Given the description of an element on the screen output the (x, y) to click on. 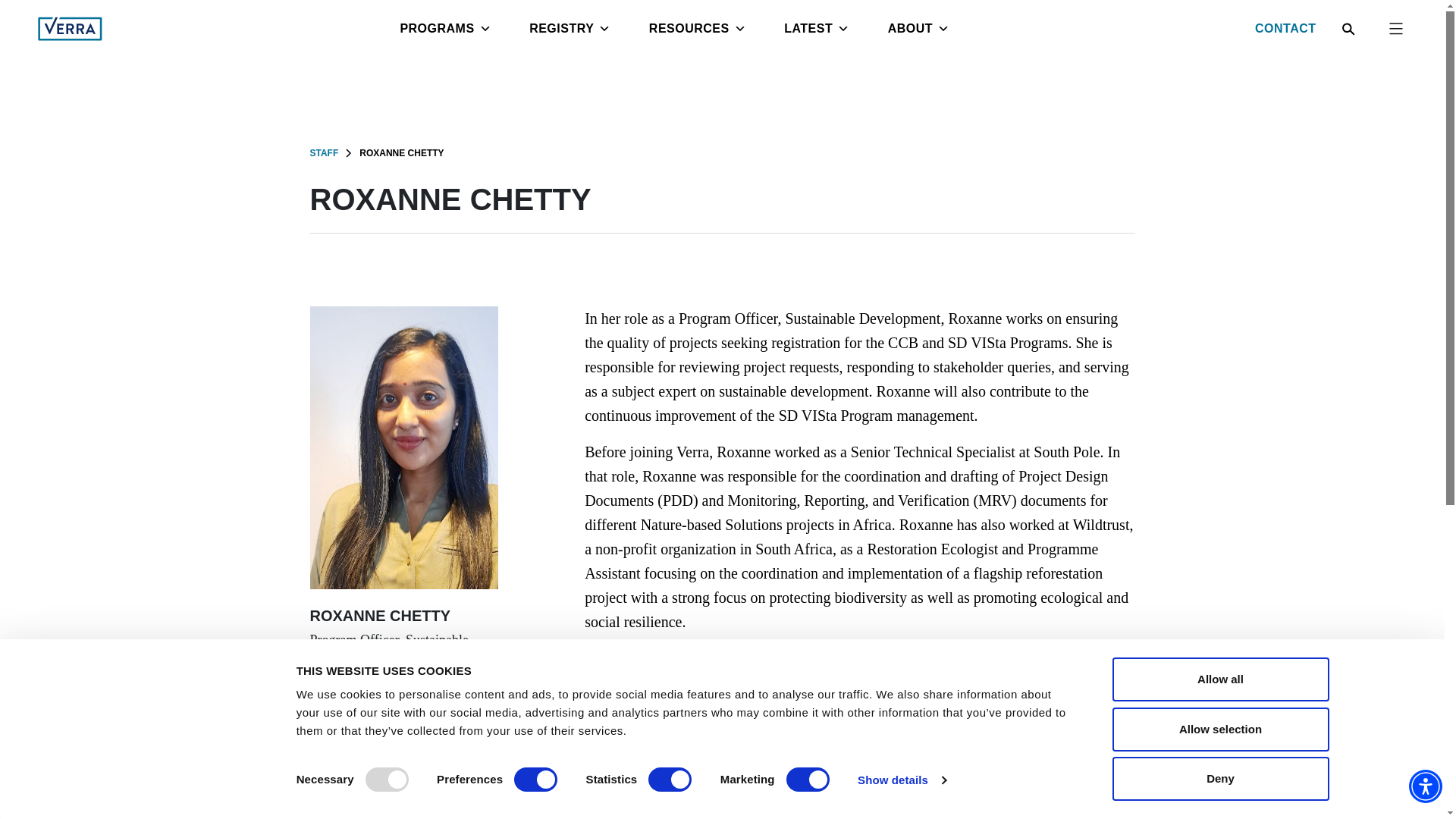
Go to Staff. (322, 151)
Accessibility Menu (1425, 786)
Show details (900, 780)
